Given the description of an element on the screen output the (x, y) to click on. 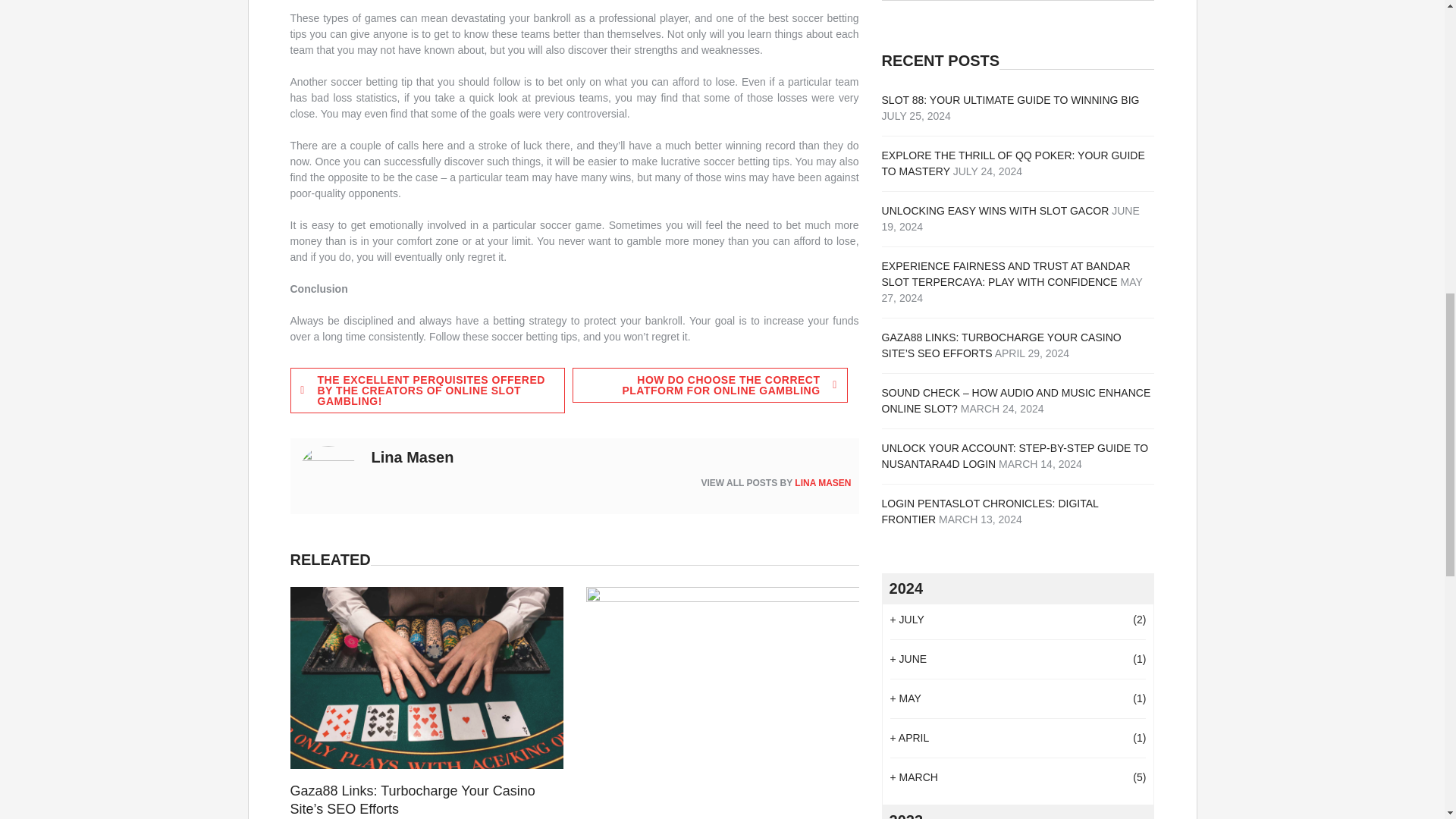
SLOT 88: YOUR ULTIMATE GUIDE TO WINNING BIG (1011, 100)
LINA MASEN (822, 482)
UNLOCKING EASY WINS WITH SLOT GACOR (995, 210)
EXPLORE THE THRILL OF QQ POKER: YOUR GUIDE TO MASTERY (1013, 163)
HOW DO CHOOSE THE CORRECT PLATFORM FOR ONLINE GAMBLING (709, 384)
